Given the description of an element on the screen output the (x, y) to click on. 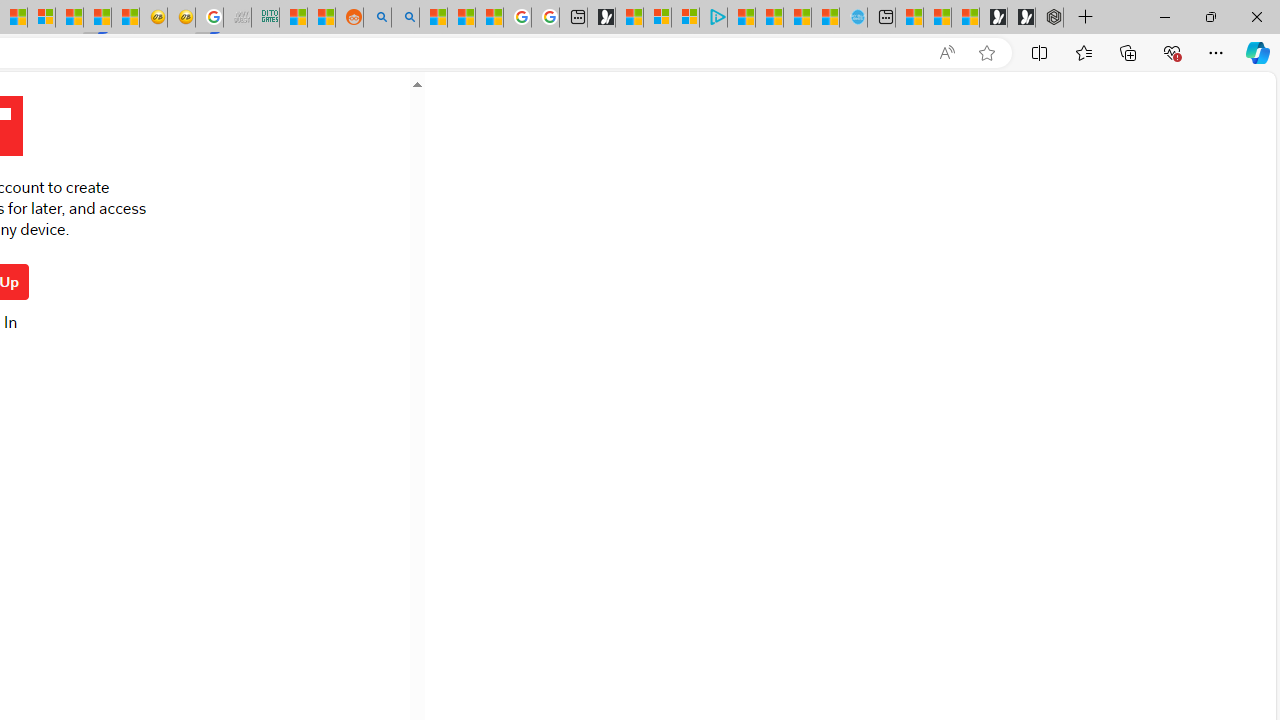
MSN (97, 17)
Microsoft Start Gaming (601, 17)
Navy Quest (237, 17)
